Given the description of an element on the screen output the (x, y) to click on. 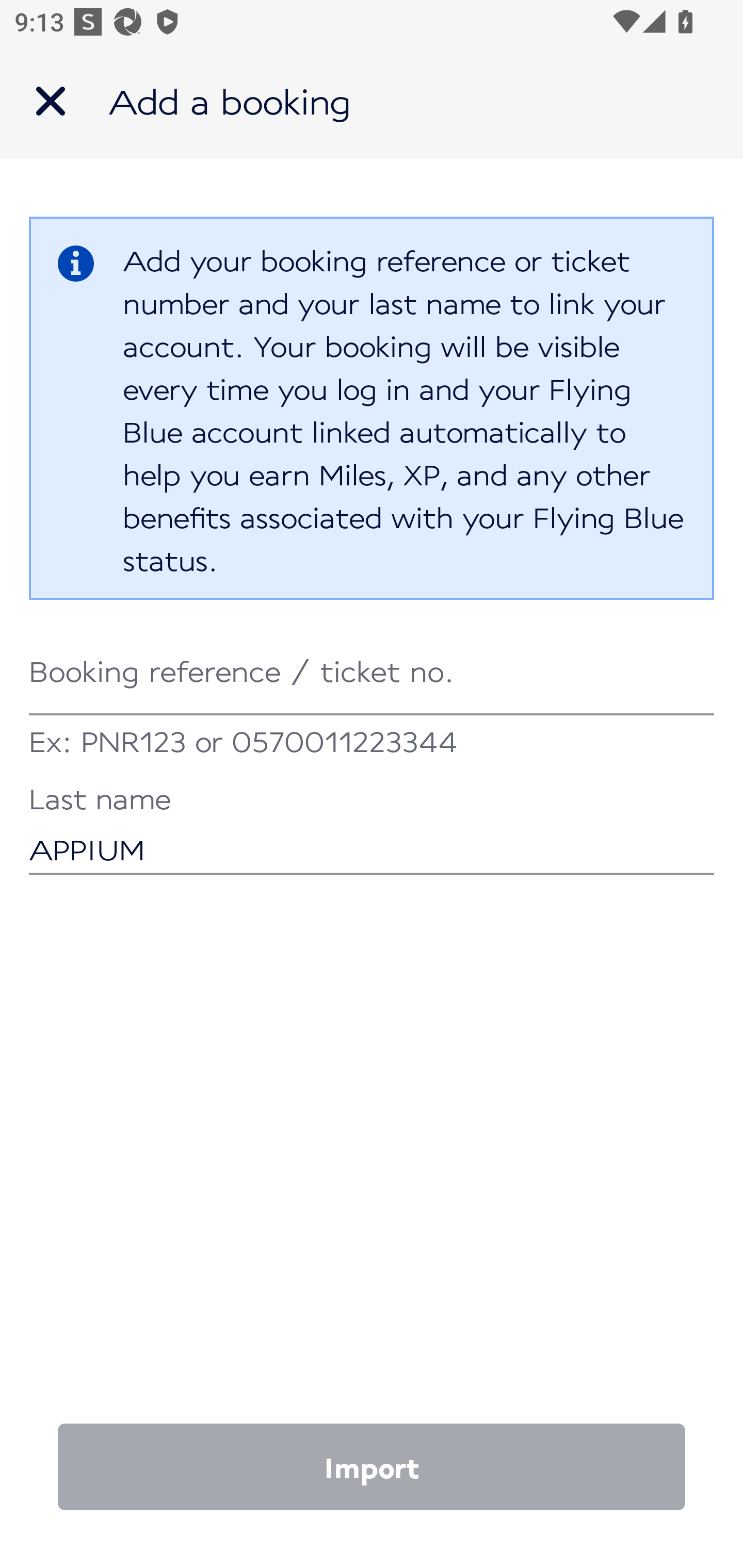
Booking reference / ticket no. (371, 671)
APPIUM (371, 831)
Import (371, 1466)
